Given the description of an element on the screen output the (x, y) to click on. 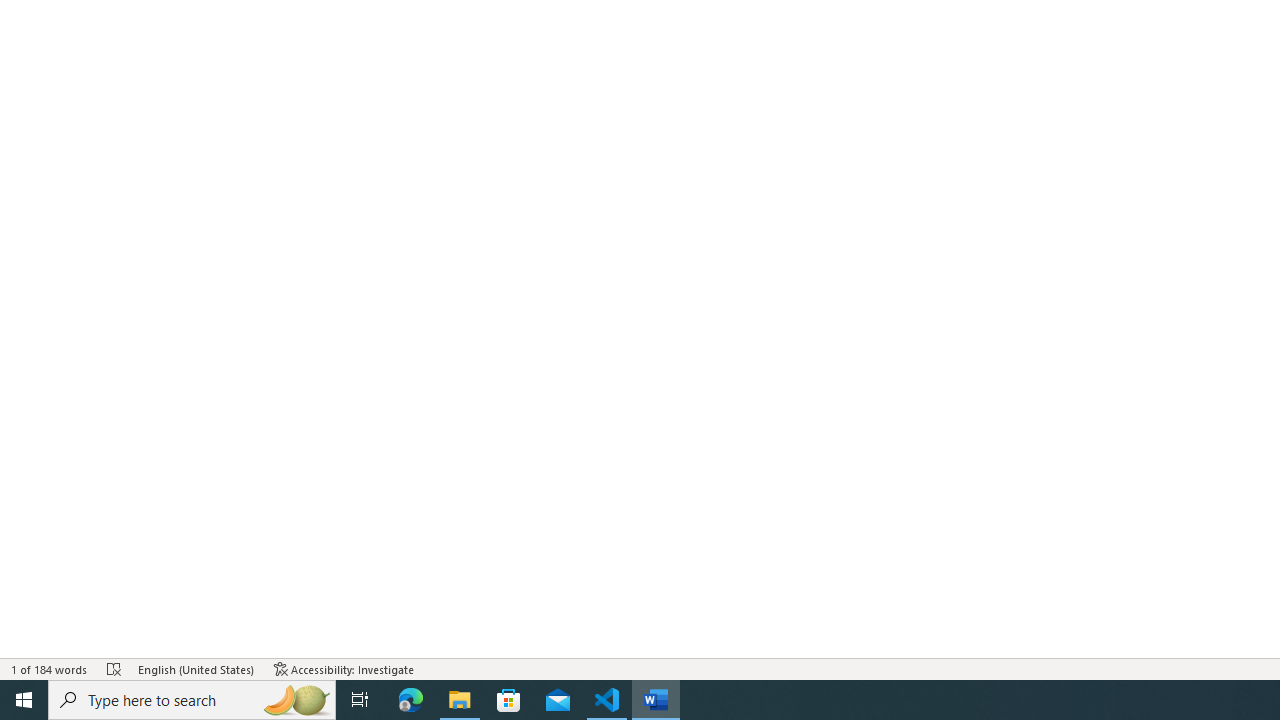
Language English (United States) (196, 668)
Spelling and Grammar Check Errors (114, 668)
Accessibility Checker Accessibility: Investigate (344, 668)
Word Count 1 of 184 words (49, 668)
